Given the description of an element on the screen output the (x, y) to click on. 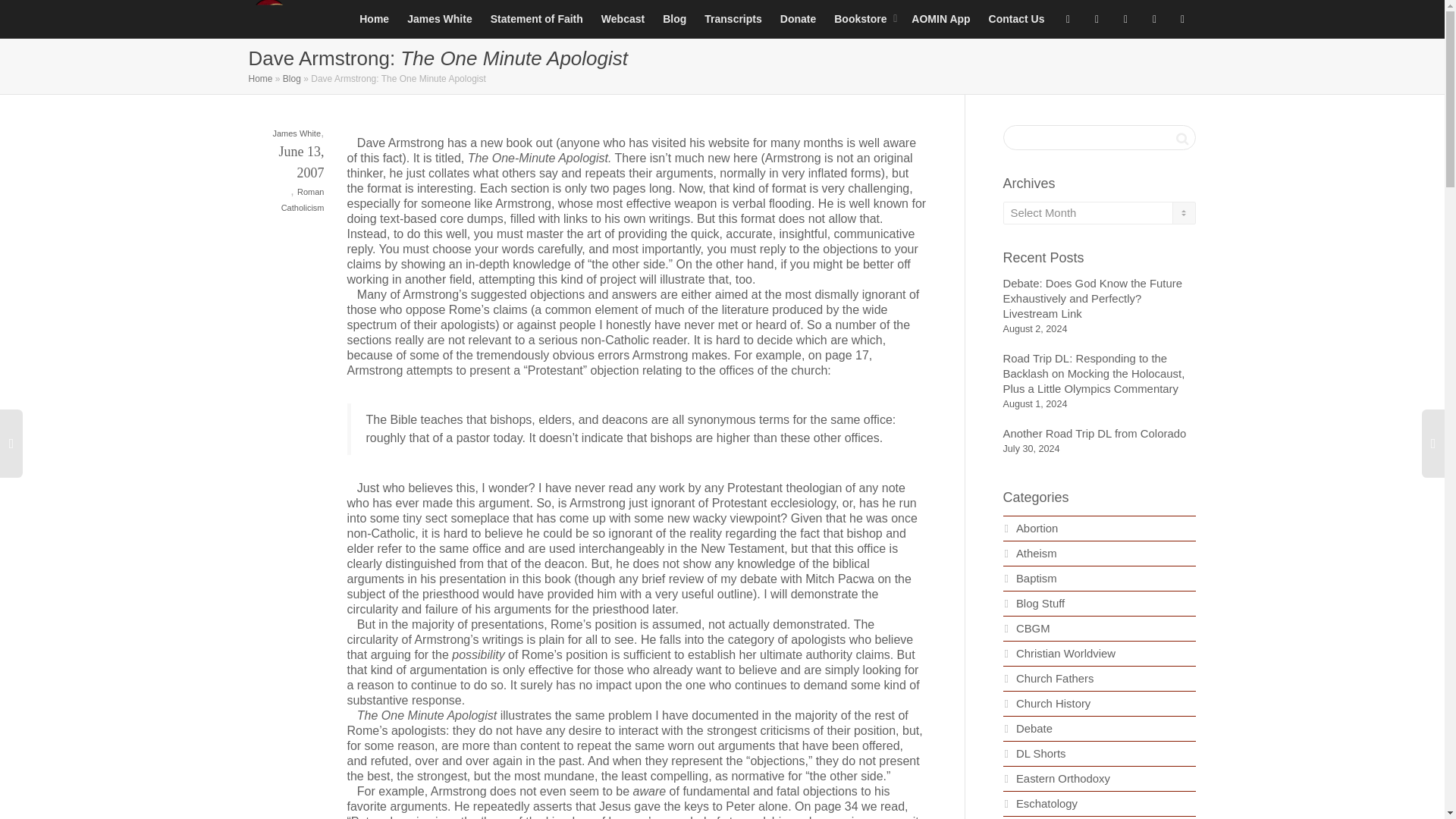
James White (296, 133)
Transcripts (732, 18)
Webcast (623, 18)
Search (1181, 137)
James White (439, 18)
Search (1181, 137)
James White (439, 18)
Roman Catholicism (302, 199)
Blog (291, 78)
Donate (797, 18)
Contact Us (1016, 18)
AOMIN App (940, 18)
Alpha and Omega Ministries (268, 18)
Home (260, 78)
Webcast (623, 18)
